Given the description of an element on the screen output the (x, y) to click on. 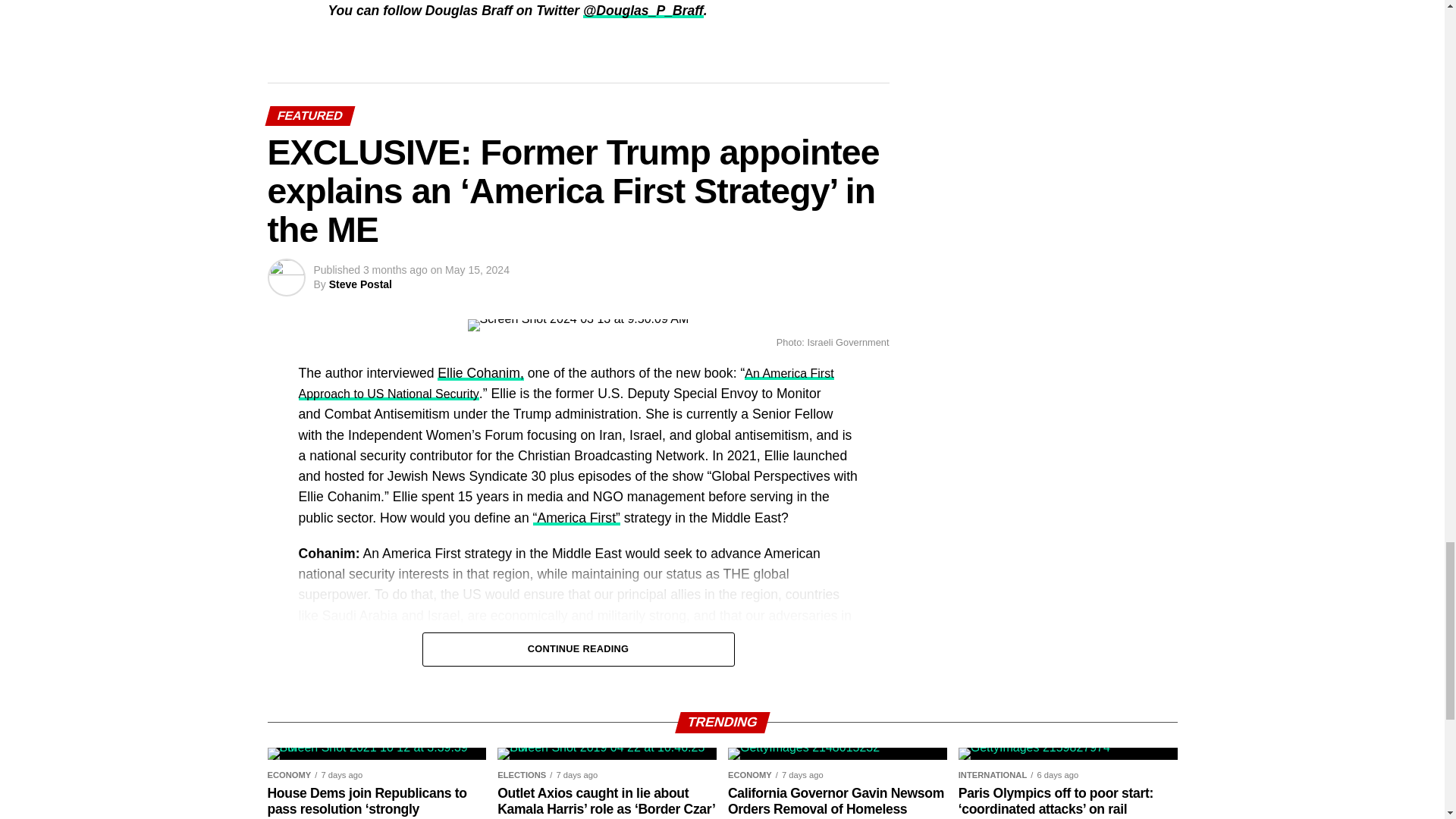
Posts by Steve Postal (360, 284)
